Given the description of an element on the screen output the (x, y) to click on. 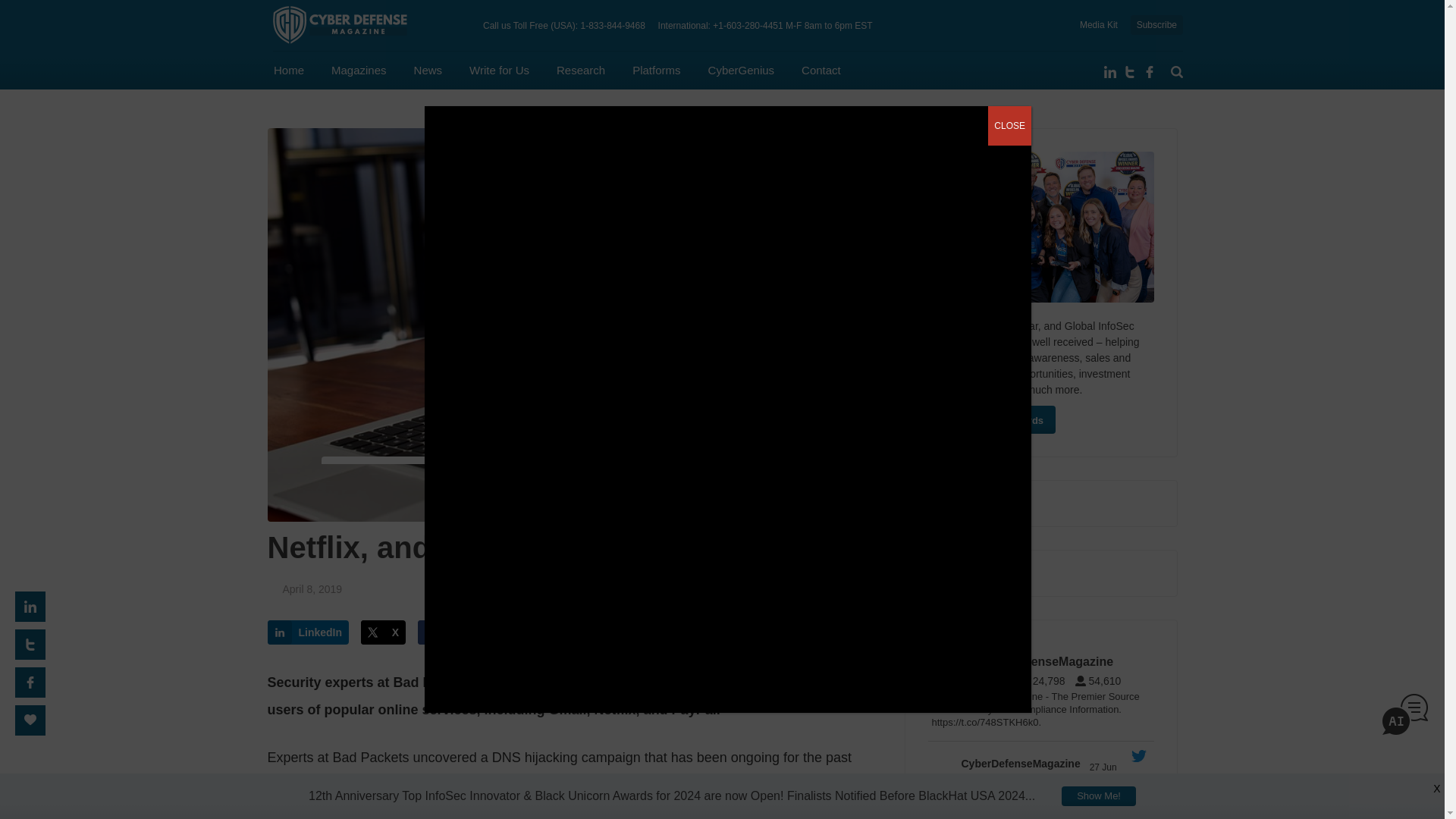
Share on Facebook (461, 631)
Subscribe (1156, 25)
54,610 Followers (1101, 680)
Contact (821, 70)
Magazines (359, 70)
Print this webpage (547, 631)
24,798 Tweets (1046, 680)
CyberGenius (740, 70)
Share on X (383, 631)
Research (580, 70)
Media Kit (1099, 24)
Share on LinkedIn (307, 631)
Platforms (655, 70)
Write for Us (498, 70)
